Given the description of an element on the screen output the (x, y) to click on. 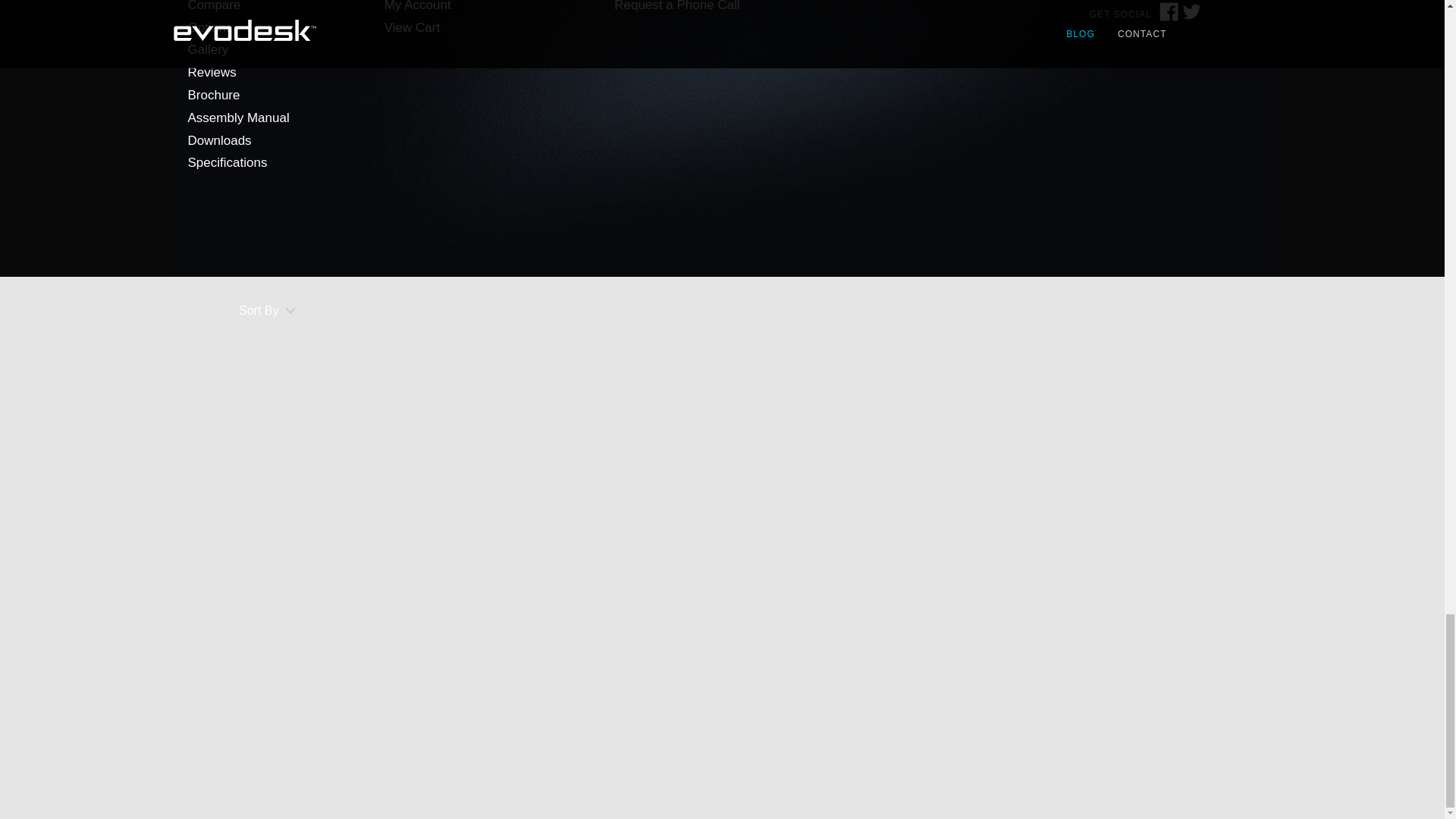
View Cart (411, 27)
Request a Phone Call (676, 6)
Reviews (211, 72)
Compare (214, 6)
Assembly Manual (238, 117)
Downloads (219, 140)
Gallery (207, 49)
Options (209, 27)
Brochure (213, 94)
Specifications (227, 162)
My Account (417, 6)
